Given the description of an element on the screen output the (x, y) to click on. 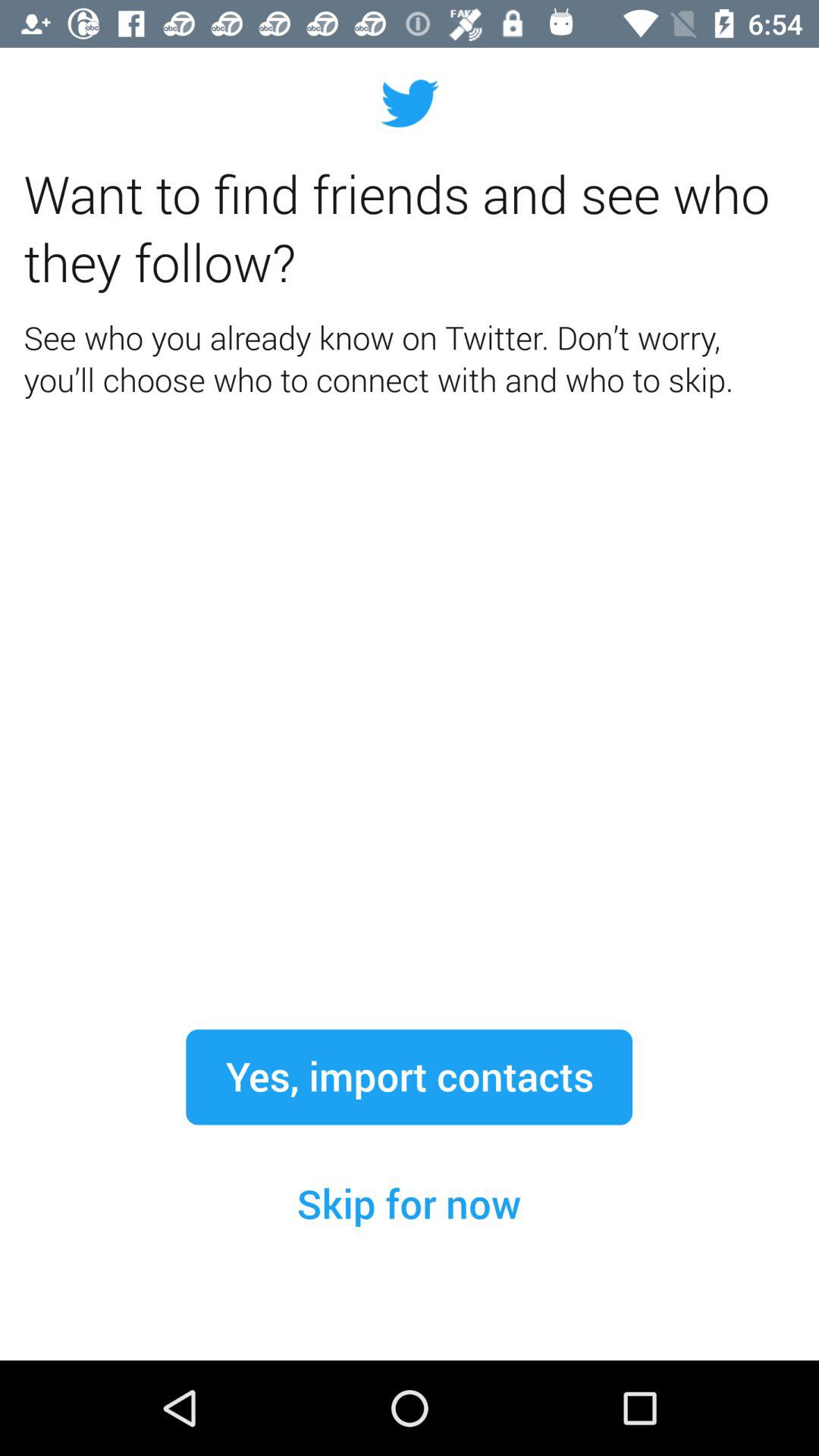
launch the yes, import contacts item (408, 1076)
